Given the description of an element on the screen output the (x, y) to click on. 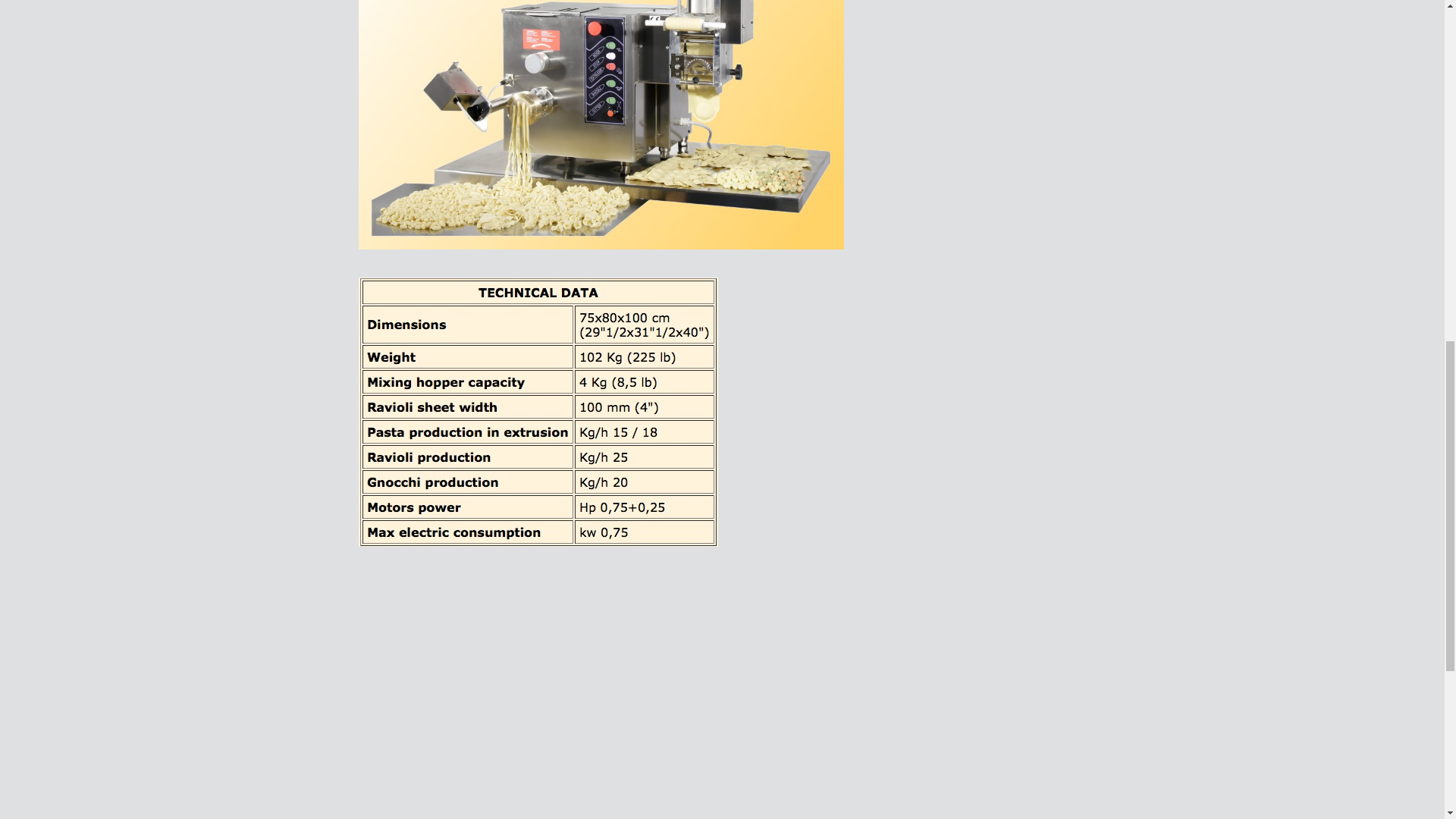
Italgi Multipla (547, 702)
